Given the description of an element on the screen output the (x, y) to click on. 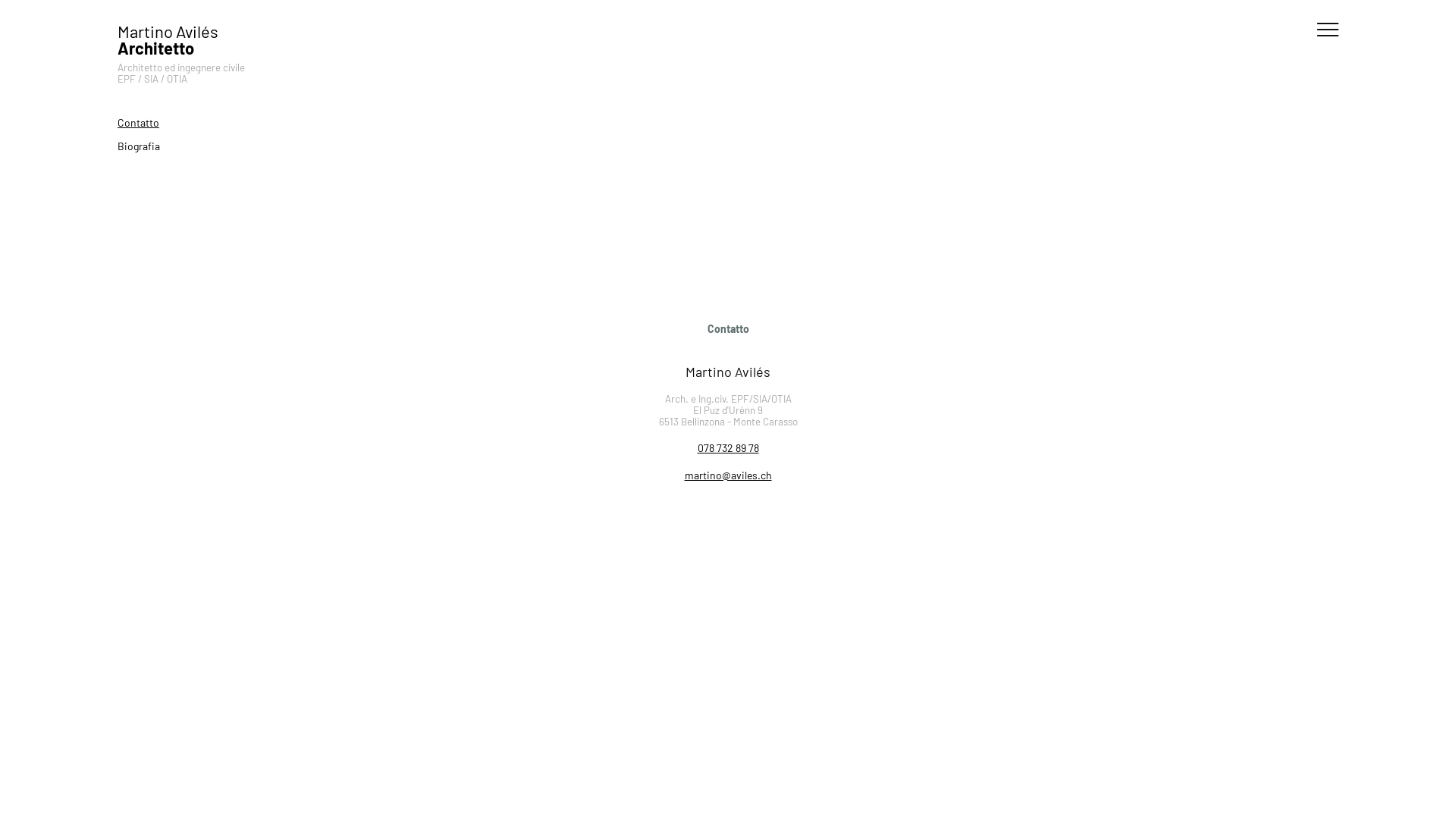
078 732 89 78 Element type: text (728, 447)
Biografia Element type: text (236, 145)
martino@aviles.ch Element type: text (727, 474)
Contatto Element type: text (236, 122)
